Given the description of an element on the screen output the (x, y) to click on. 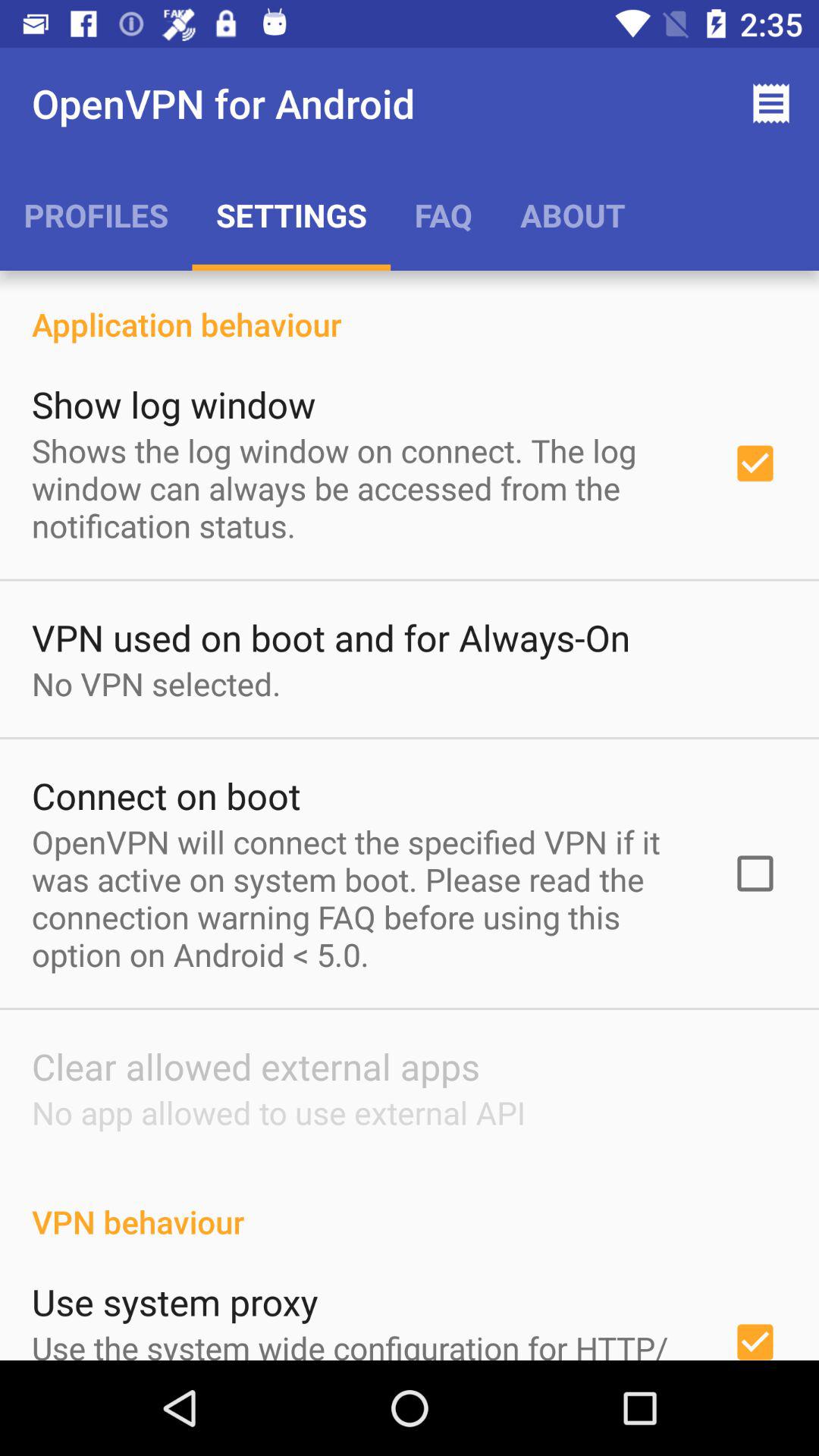
launch the app above the application behaviour (572, 214)
